Given the description of an element on the screen output the (x, y) to click on. 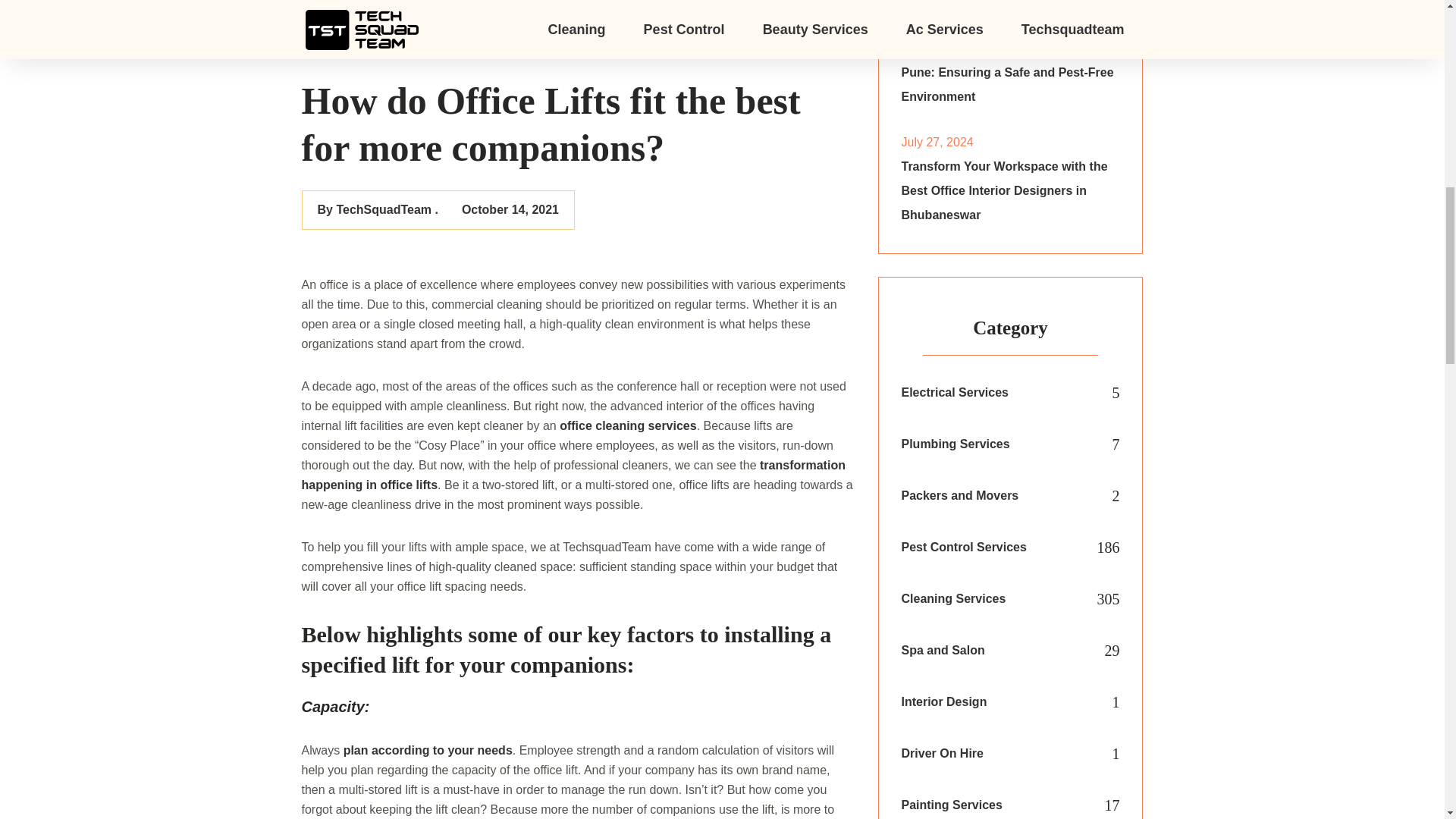
Plumbing Services (955, 443)
Packers and Movers (959, 495)
Spa and Salon (942, 650)
plan according to your needs (427, 749)
By TechSquadTeam . (377, 209)
Driver On Hire (941, 753)
Cleaning Services (953, 598)
Pest Control Services (963, 547)
